Given the description of an element on the screen output the (x, y) to click on. 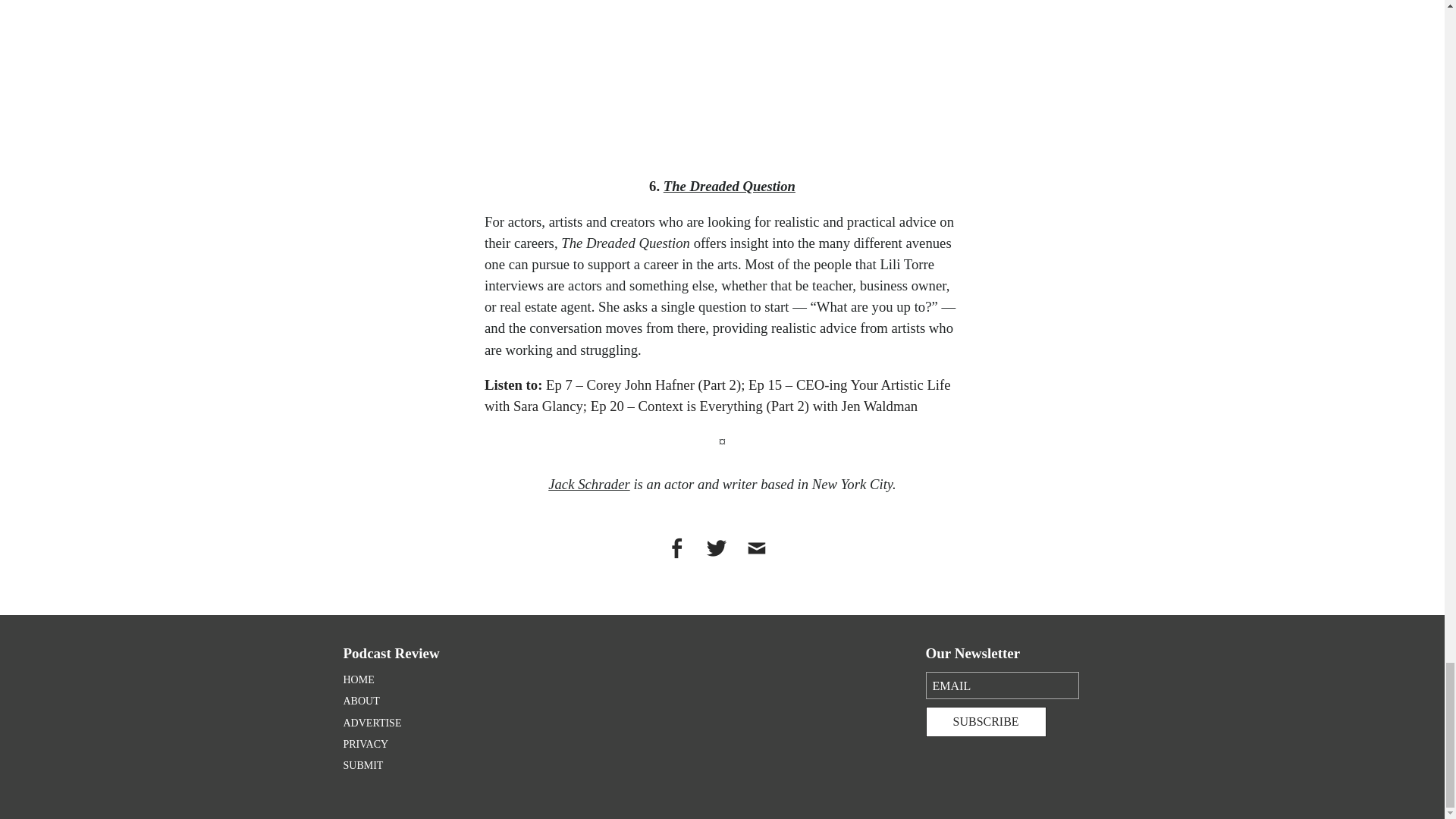
SUBMIT (362, 765)
SUBSCRIBE (984, 721)
Jack Schrader (589, 483)
SUBSCRIBE (984, 721)
HOME (358, 679)
PRIVACY (365, 744)
ADVERTISE (371, 722)
The Dreaded Question (728, 186)
ABOUT (360, 700)
